Given the description of an element on the screen output the (x, y) to click on. 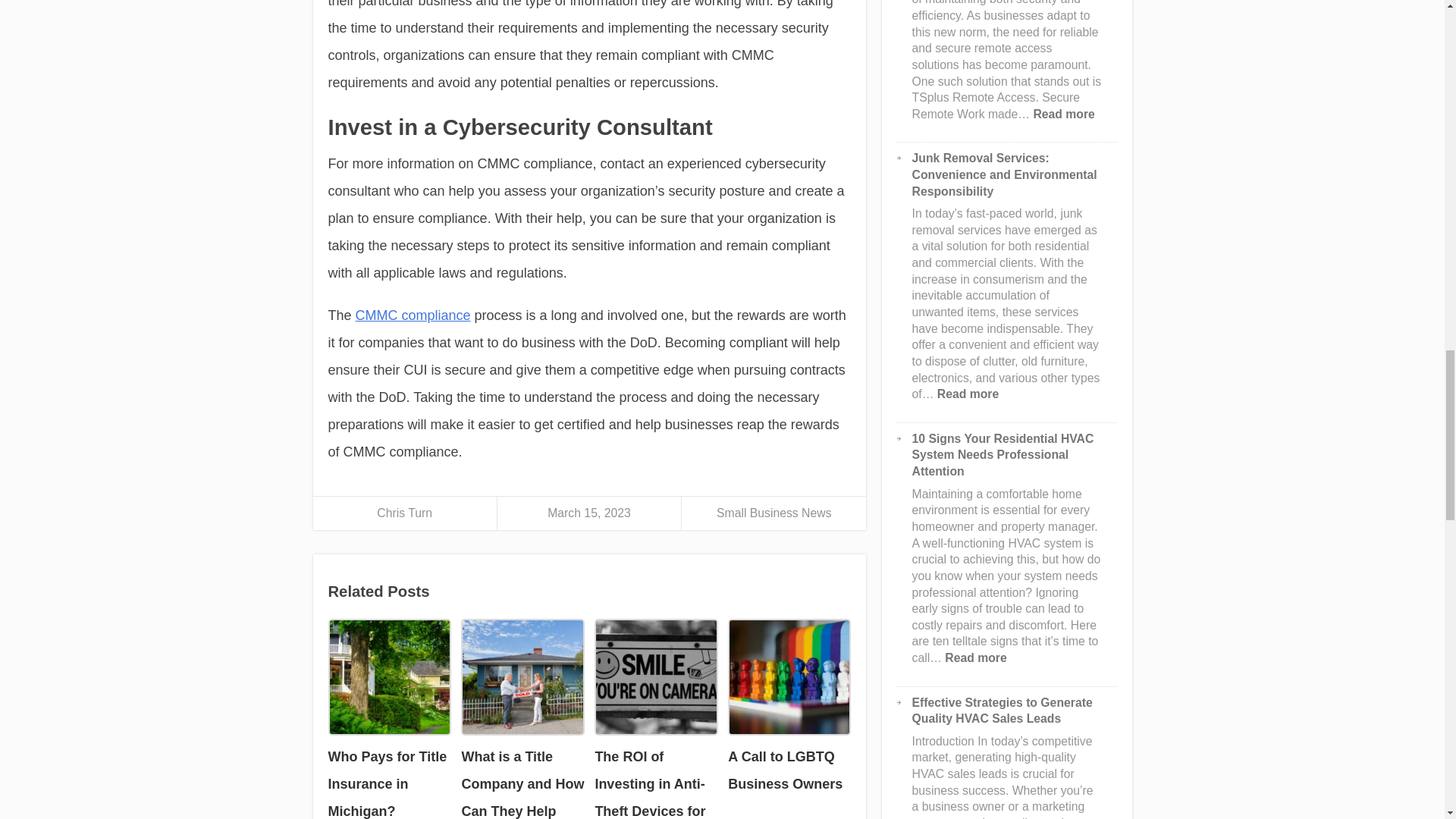
Small Business News (773, 512)
CMMC compliance (412, 314)
Chris Turn (404, 512)
